Given the description of an element on the screen output the (x, y) to click on. 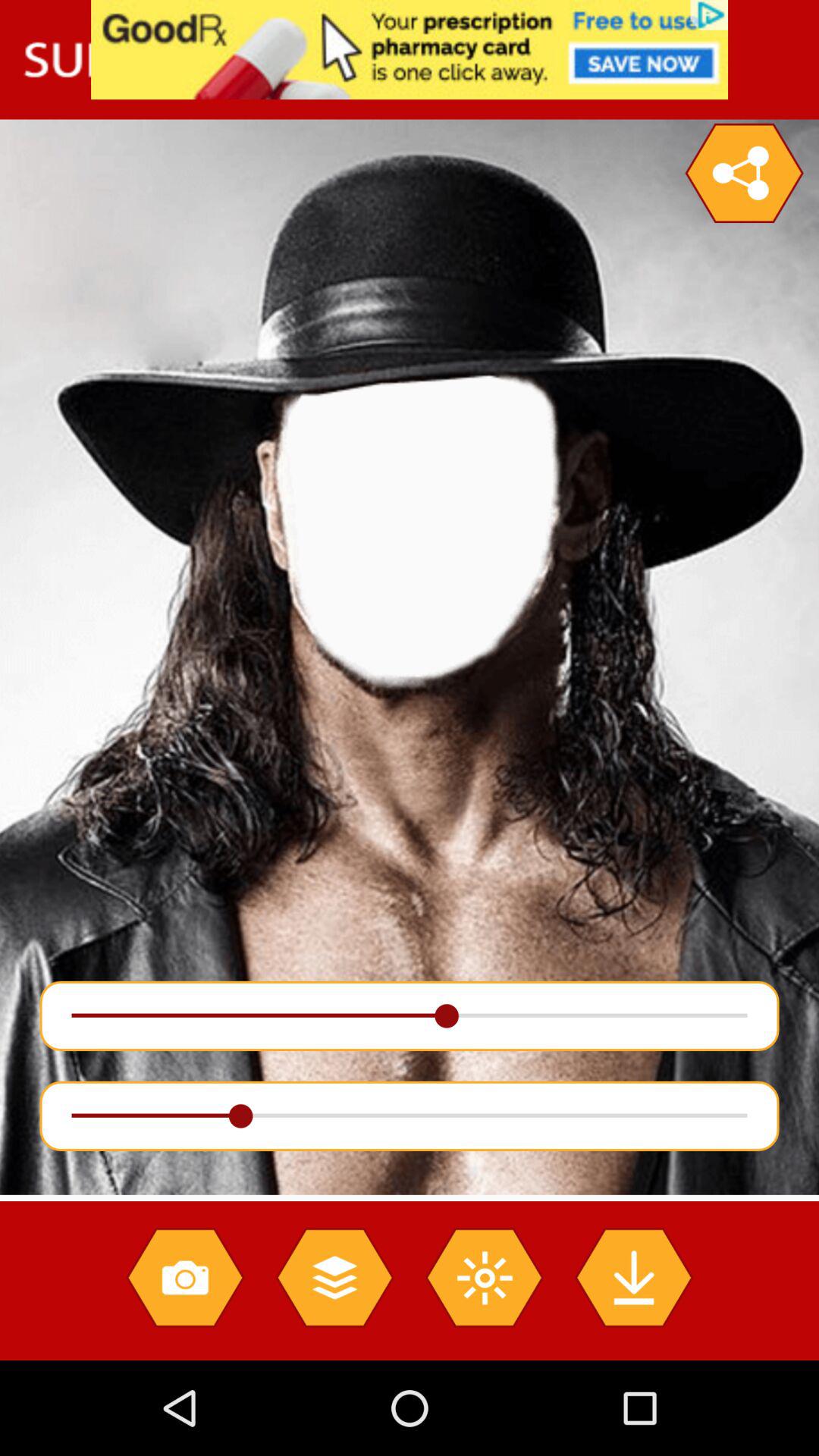
view advertisement (409, 49)
